Given the description of an element on the screen output the (x, y) to click on. 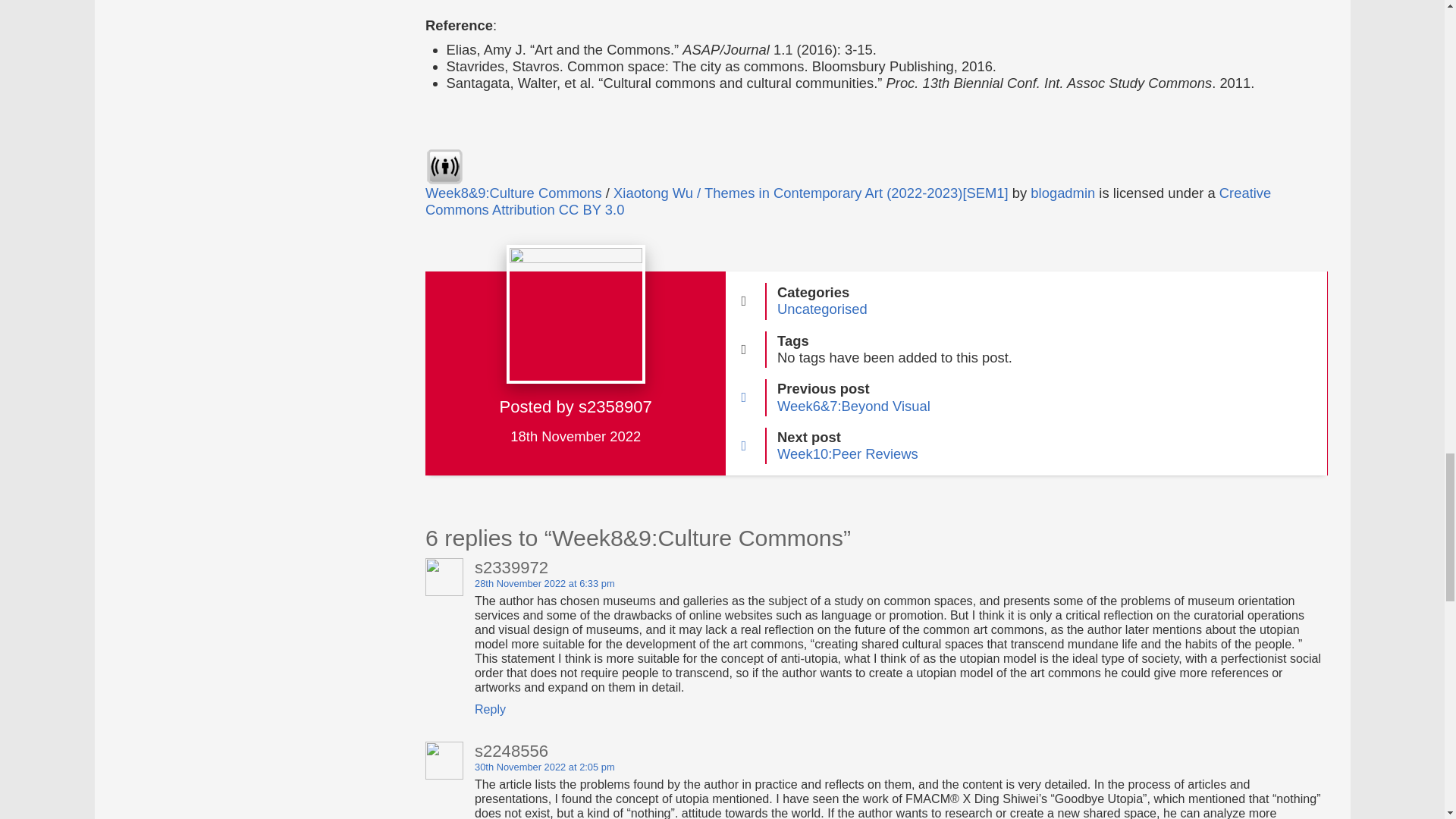
Posts by s2358907 (615, 406)
Uncategorised (822, 308)
blogadmin (1062, 192)
s2358907 (615, 406)
Creative Commons Attribution CC BY 3.0 (848, 201)
